Given the description of an element on the screen output the (x, y) to click on. 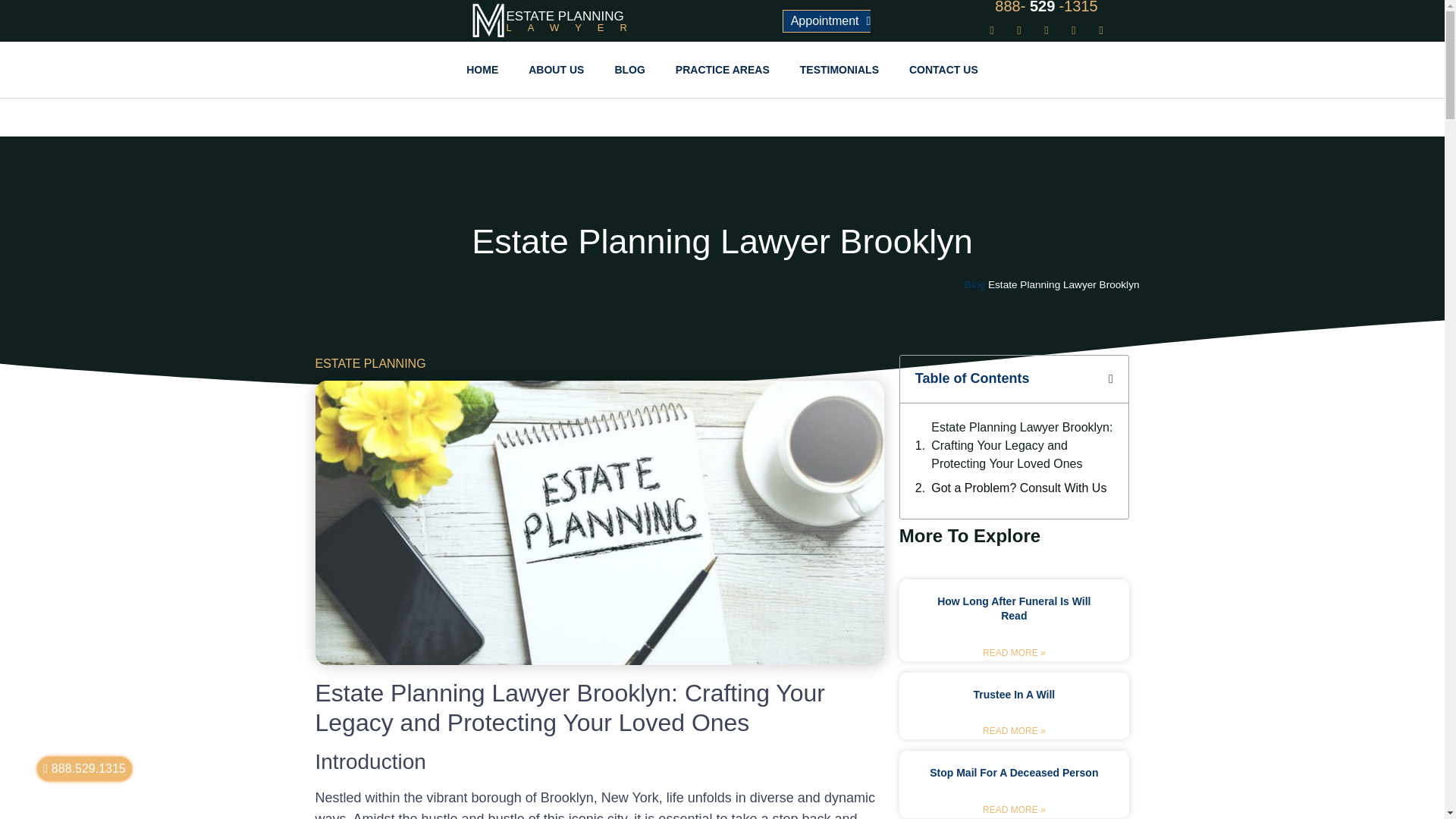
ESTATE PLANNING (565, 16)
888.529.1315 (84, 768)
PRACTICE AREAS (722, 69)
HOME (482, 69)
Appointment (826, 33)
ESTATE PLANNING (370, 363)
Stop Mail For A Deceased Person (1013, 772)
BLOG (628, 69)
TESTIMONIALS (838, 69)
Blog (1018, 488)
ABOUT US (974, 284)
Trustee In A Will (555, 69)
